Given the description of an element on the screen output the (x, y) to click on. 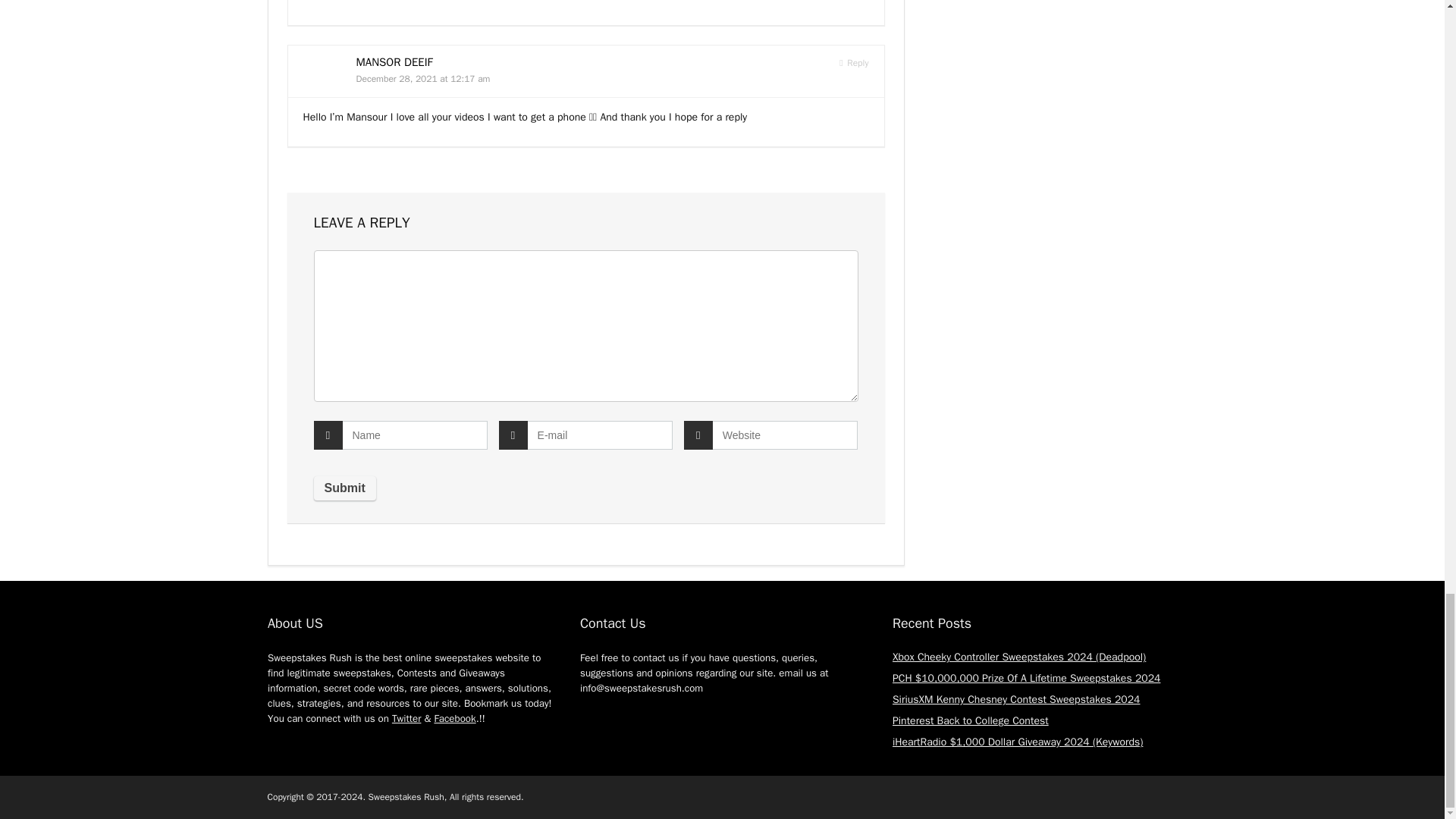
Submit (344, 487)
